Given the description of an element on the screen output the (x, y) to click on. 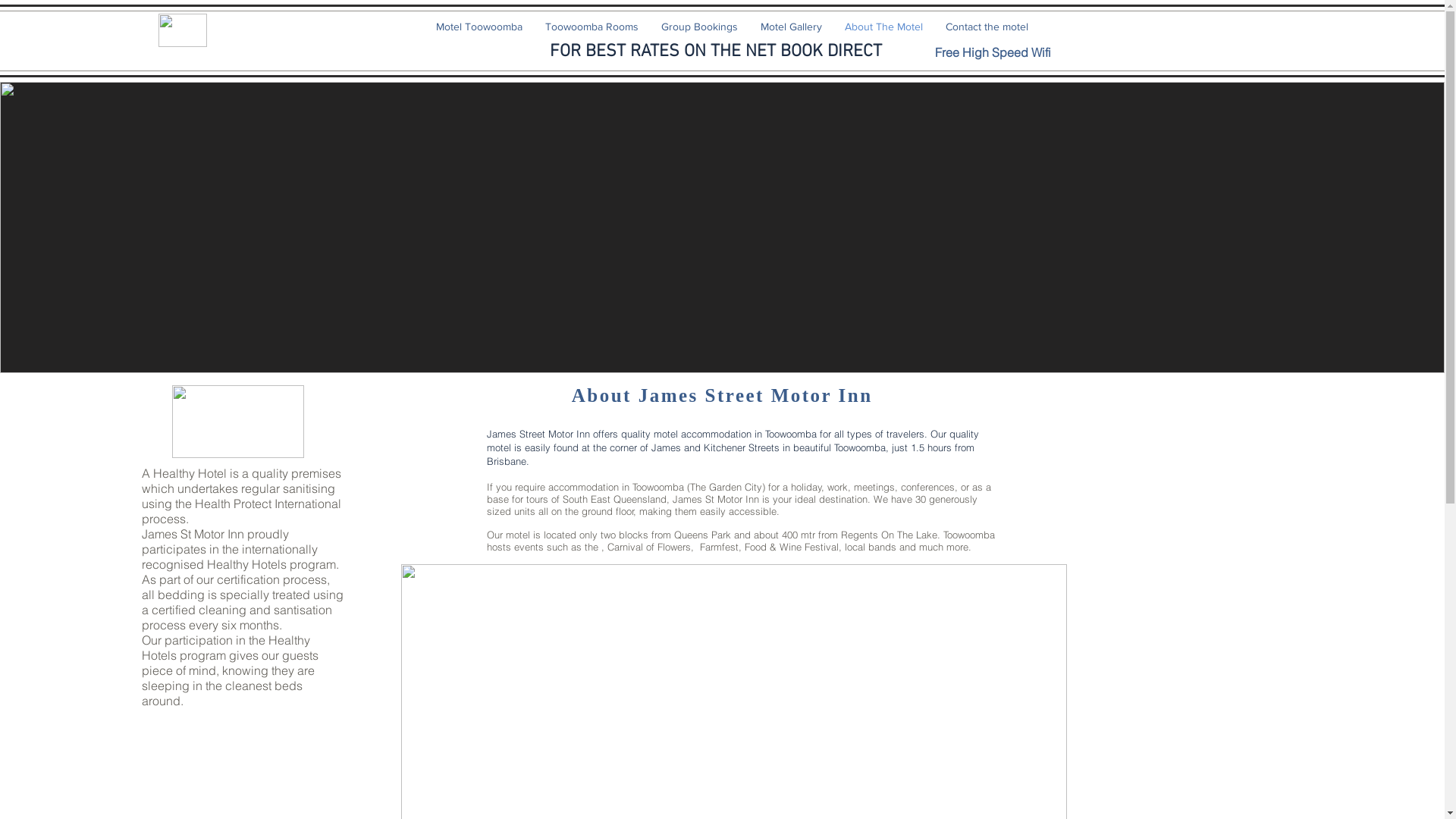
About The Motel Element type: text (882, 26)
Group Bookings Element type: text (698, 26)
Motel Gallery Element type: text (791, 26)
Motel Toowoomba Element type: text (478, 26)
Toowoomba Rooms Element type: text (591, 26)
Contact the motel Element type: text (986, 26)
